Given the description of an element on the screen output the (x, y) to click on. 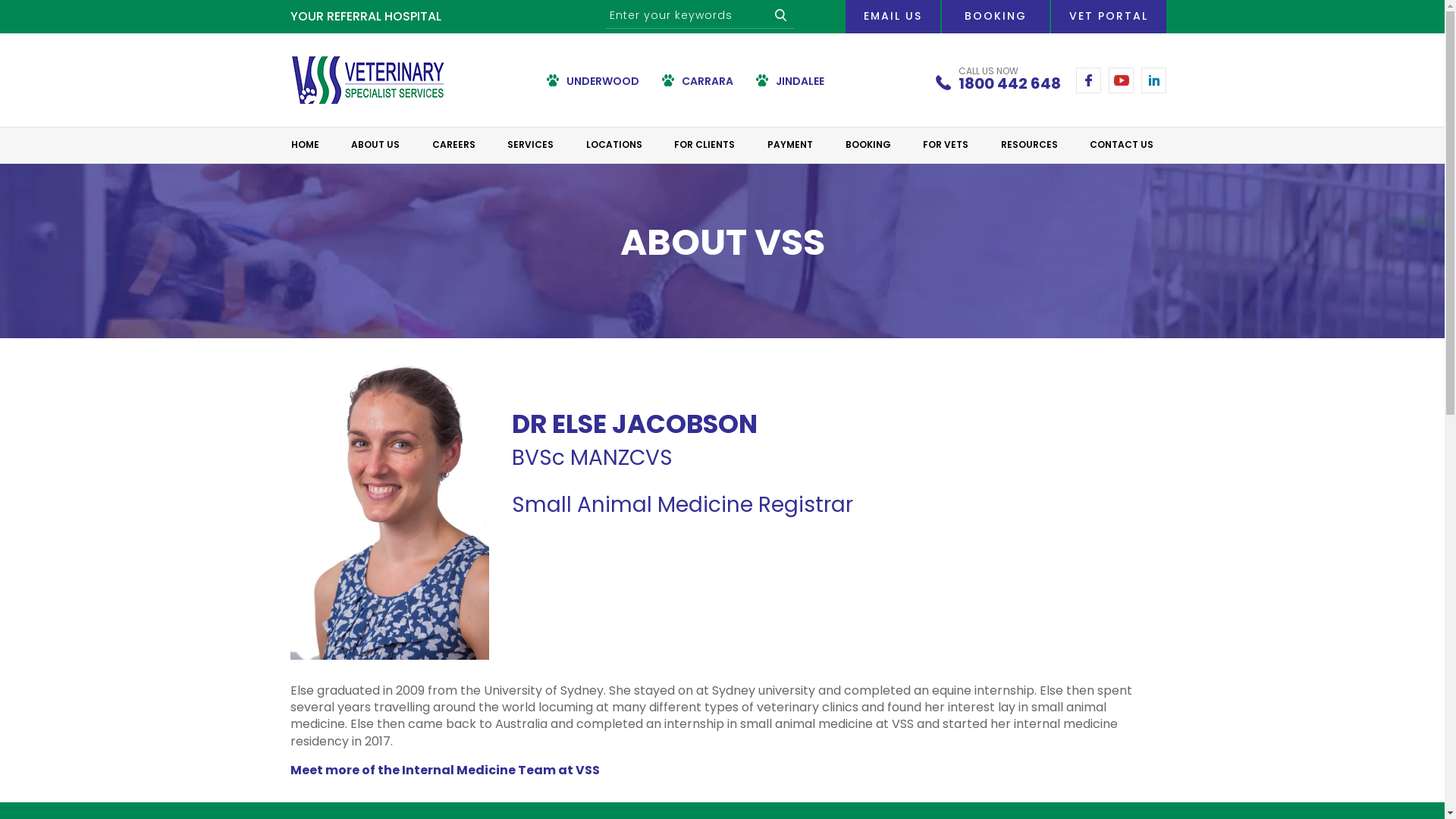
JINDALEE Element type: text (790, 81)
Veterinary Specialist Services Element type: hover (366, 78)
CARRARA Element type: text (697, 81)
youtube Element type: text (1120, 80)
facebook Element type: text (1087, 80)
Meet more of the Internal Medicine Team at VSS Element type: text (444, 769)
UNDERWOOD Element type: text (592, 81)
CAREERS Element type: text (453, 144)
BOOKING Element type: text (995, 16)
BOOKING Element type: text (867, 144)
SERVICES Element type: text (530, 144)
search Element type: hover (780, 15)
CALL US NOW
1800 442 648 Element type: text (1009, 80)
VET PORTAL Element type: text (1108, 16)
CONTACT US Element type: text (1121, 144)
RESOURCES Element type: text (1029, 144)
LOCATIONS Element type: text (614, 144)
HOME Element type: text (304, 144)
FOR CLIENTS Element type: text (704, 144)
YOUR REFERRAL HOSPITAL Element type: text (364, 16)
PAYMENT Element type: text (789, 144)
EMAIL US Element type: text (891, 16)
FOR VETS Element type: text (945, 144)
ABOUT US Element type: text (375, 144)
linkedin Element type: text (1152, 80)
